Given the description of an element on the screen output the (x, y) to click on. 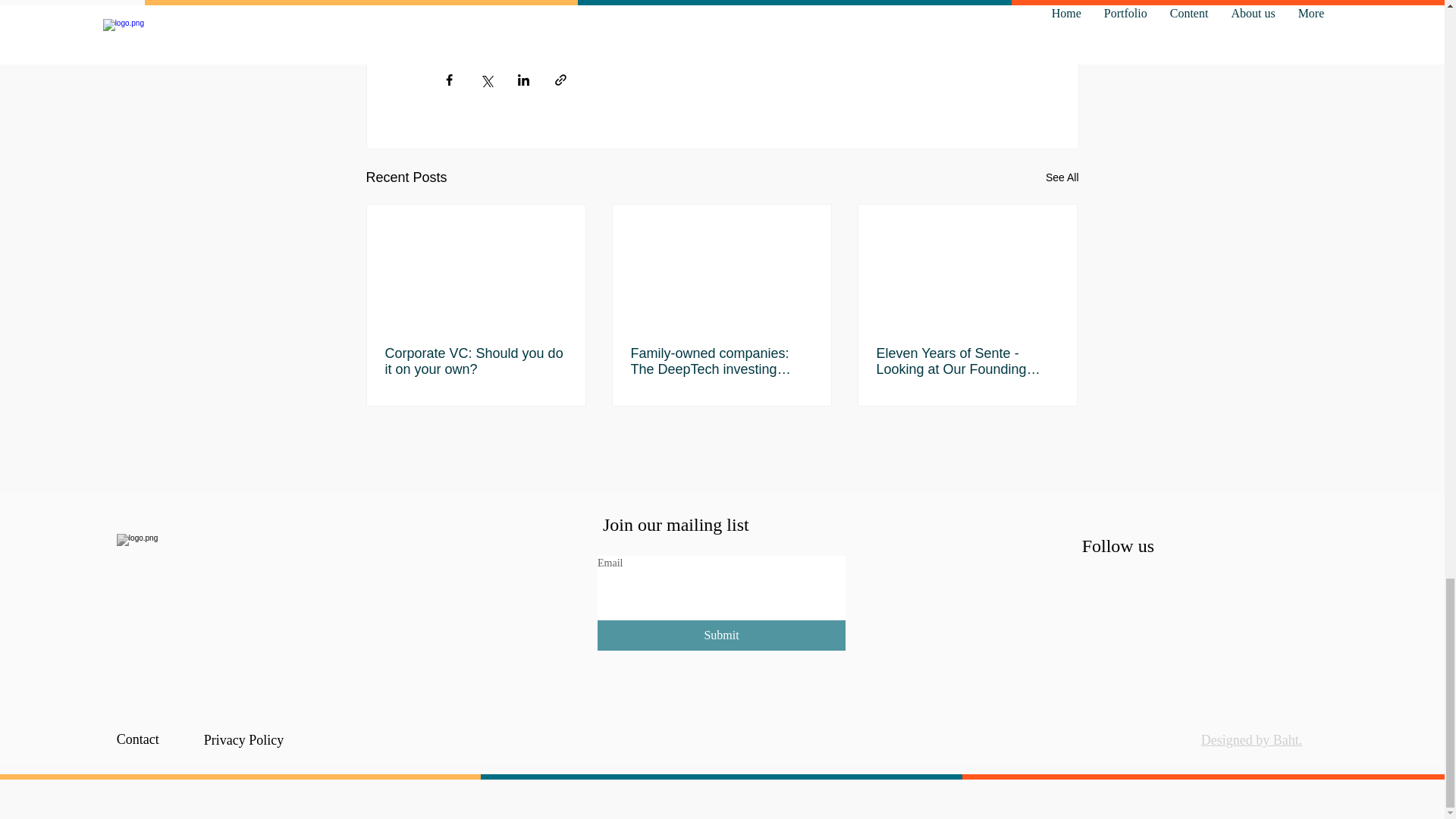
See All (1061, 178)
Eleven Years of Sente - Looking at Our Founding Principles (967, 361)
Corporate VC: Should you do it on your own? (476, 361)
